Given the description of an element on the screen output the (x, y) to click on. 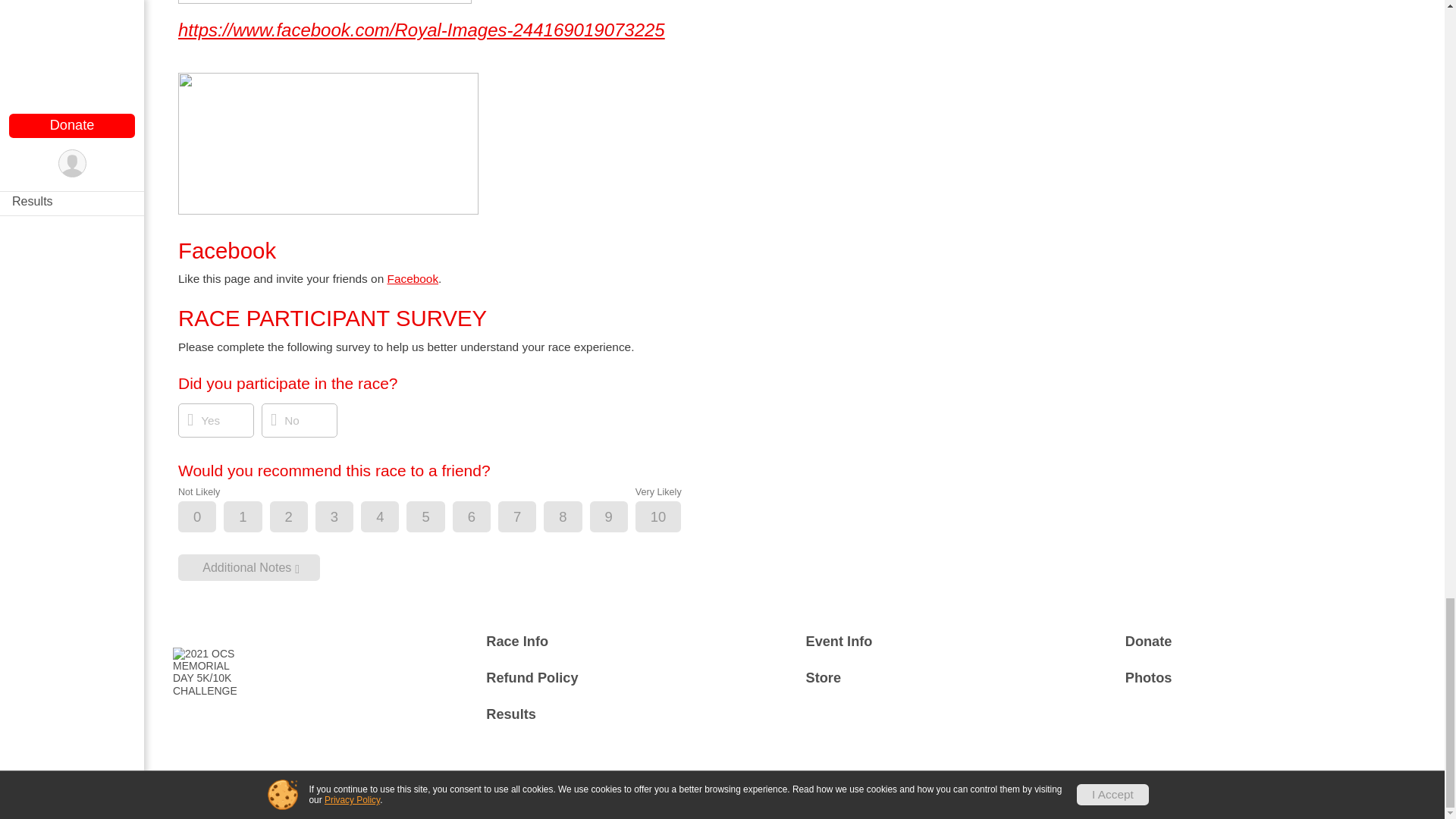
8 (575, 517)
7 (529, 517)
0 (209, 517)
10 (671, 517)
1 (255, 517)
6 (483, 517)
4 (391, 517)
3 (346, 517)
5 (437, 517)
2 (301, 517)
9 (621, 517)
